Given the description of an element on the screen output the (x, y) to click on. 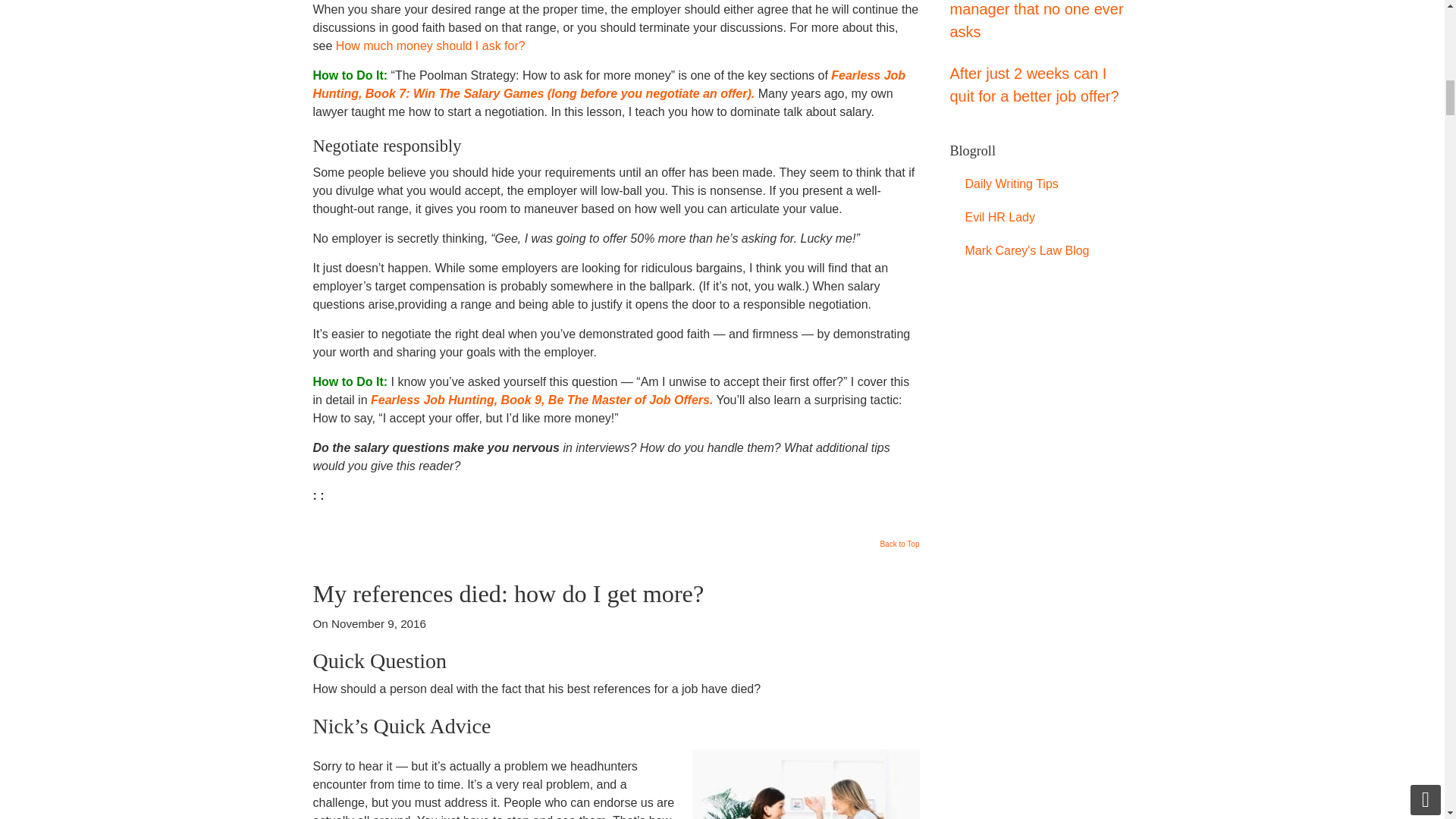
Fearless Job Hunting, Book 9, Be The Master of Job Offers. (542, 399)
Top of Page (898, 548)
My references died: how do I get more? (508, 593)
How much money should I ask for? (430, 45)
